Given the description of an element on the screen output the (x, y) to click on. 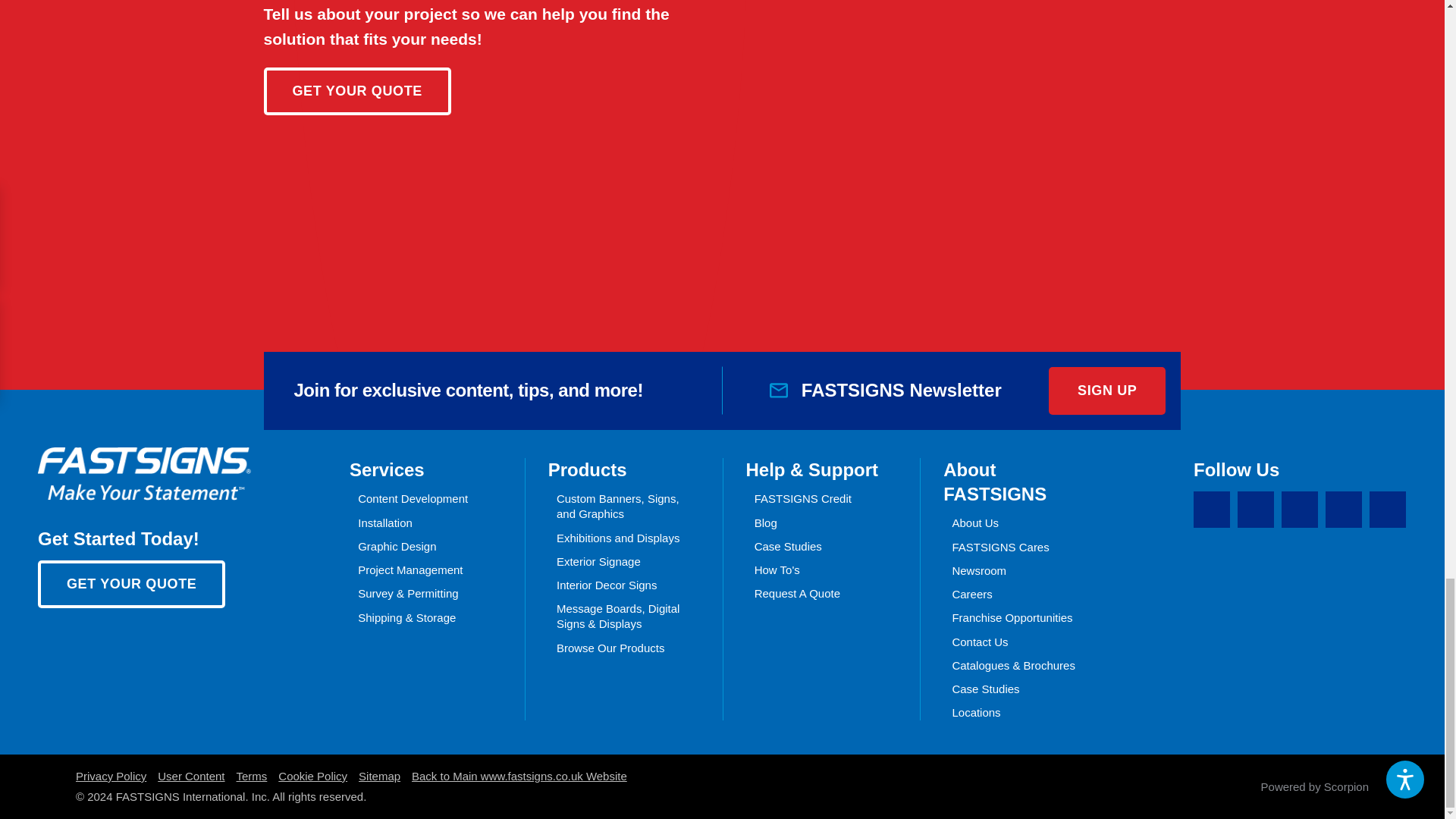
LinkedIn (1299, 509)
Facebook (1211, 509)
YouTube (1388, 509)
Instagram (1342, 509)
Twitter (1255, 509)
